Given the description of an element on the screen output the (x, y) to click on. 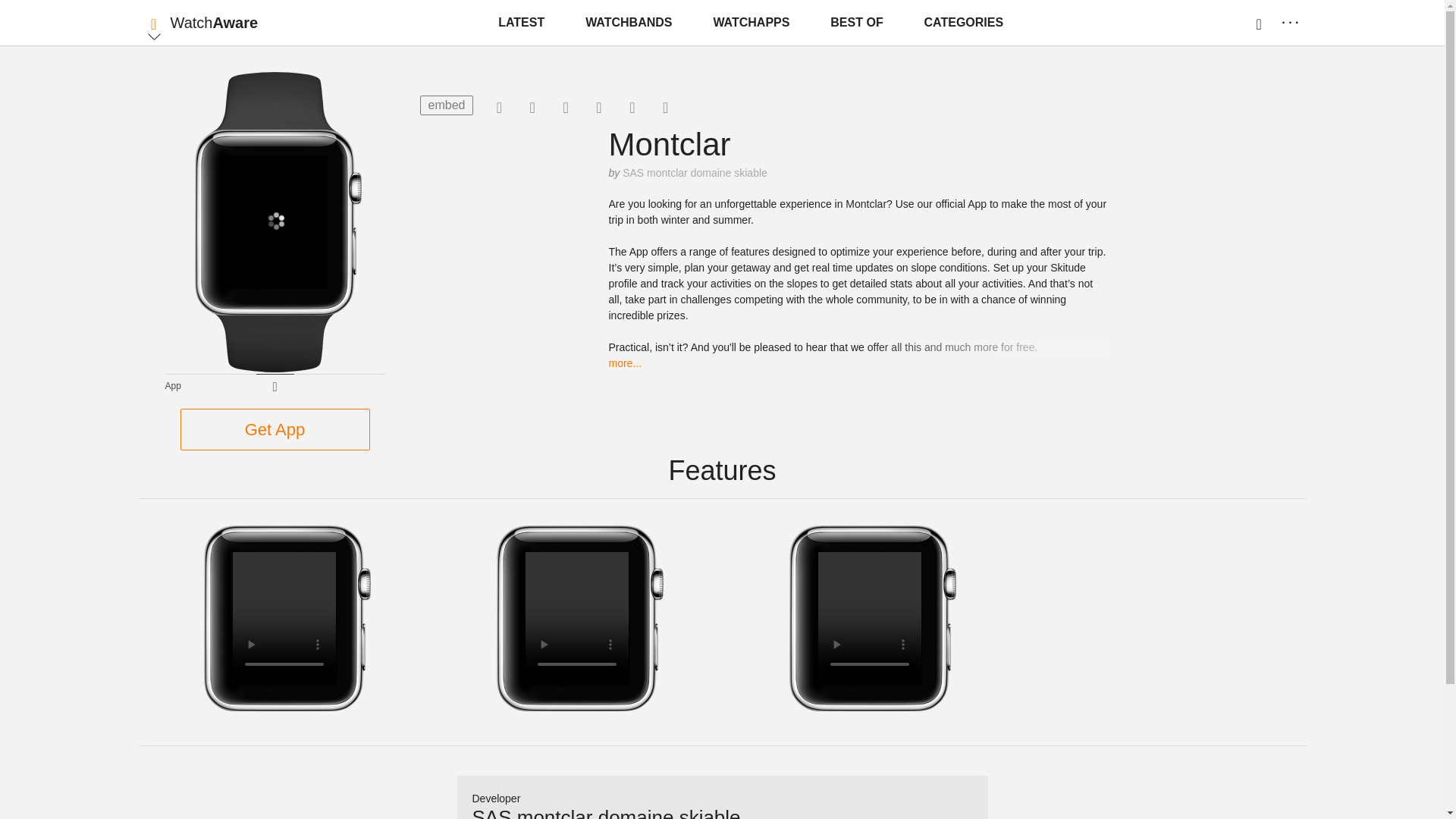
WATCHAPPS (751, 22)
LATEST (520, 22)
CATEGORIES (964, 22)
BEST OF (855, 22)
WATCHBANDS (628, 22)
embed (447, 105)
WatchAware (213, 22)
